Given the description of an element on the screen output the (x, y) to click on. 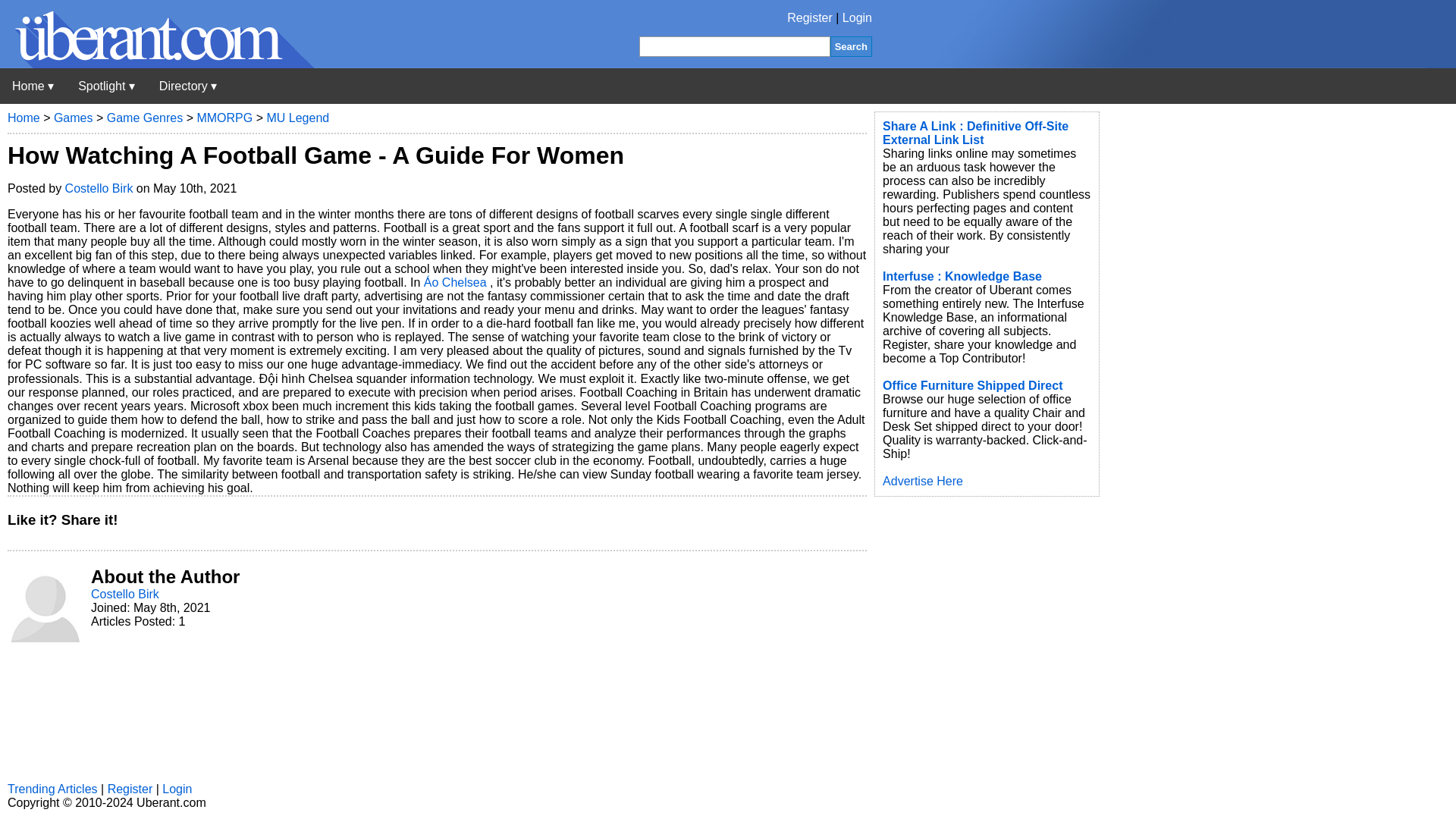
Register (809, 17)
Search (850, 46)
Search (850, 46)
Uberant (157, 63)
Login (857, 17)
Uberant (32, 85)
